Given the description of an element on the screen output the (x, y) to click on. 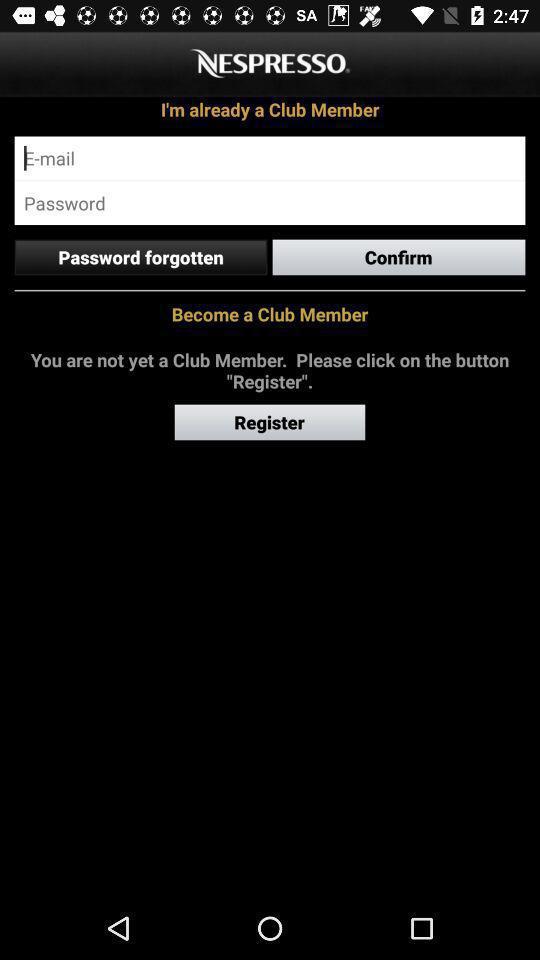
select the icon to the right of the password forgotten icon (398, 257)
